Given the description of an element on the screen output the (x, y) to click on. 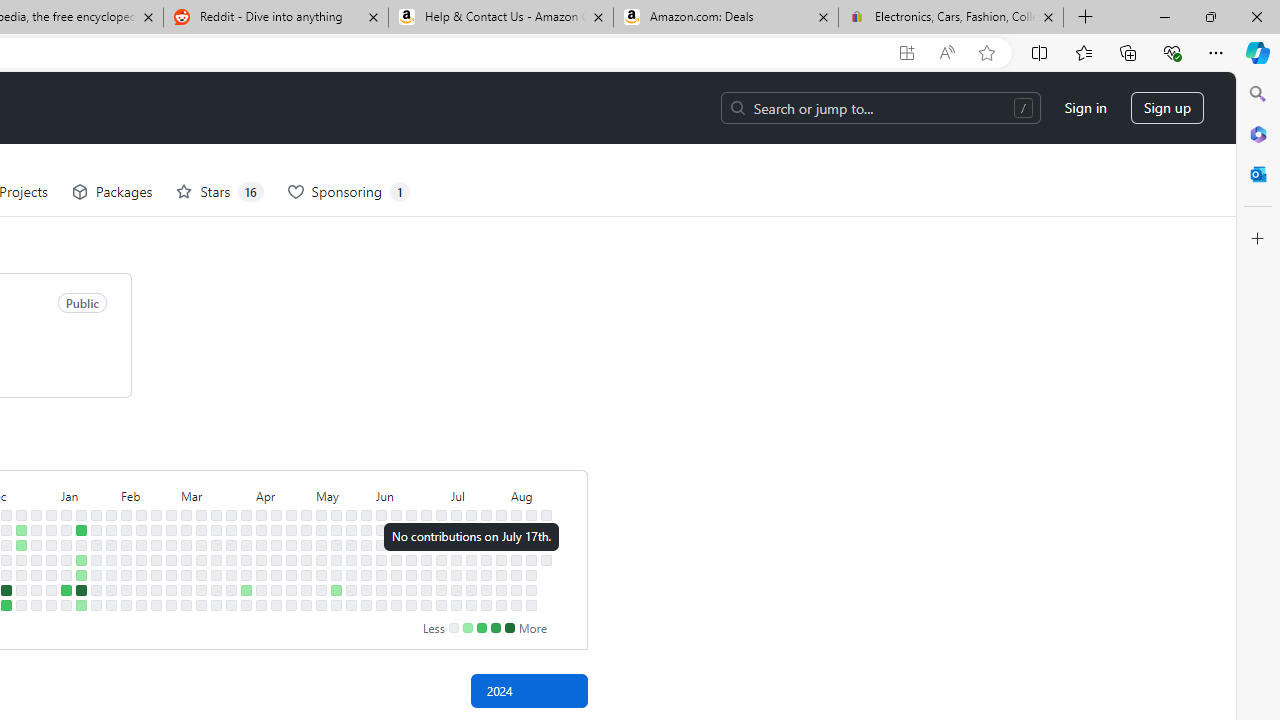
No contributions on August 9th. (516, 589)
No contributions on May 19th. (351, 515)
No contributions on July 17th. (471, 559)
No contributions on June 3rd. (381, 529)
No contributions on July 31st. (501, 559)
No contributions on March 13th. (201, 559)
No contributions on June 25th. (426, 544)
No contributions on July 26th. (486, 589)
No contributions on May 13th. (336, 529)
No contributions on May 3rd. (306, 589)
No contributions on December 23rd. (20, 605)
No contributions on February 29th. (171, 574)
No contributions on May 27th. (366, 529)
No contributions on August 12th. (531, 529)
No contributions on July 19th. (471, 589)
